Given the description of an element on the screen output the (x, y) to click on. 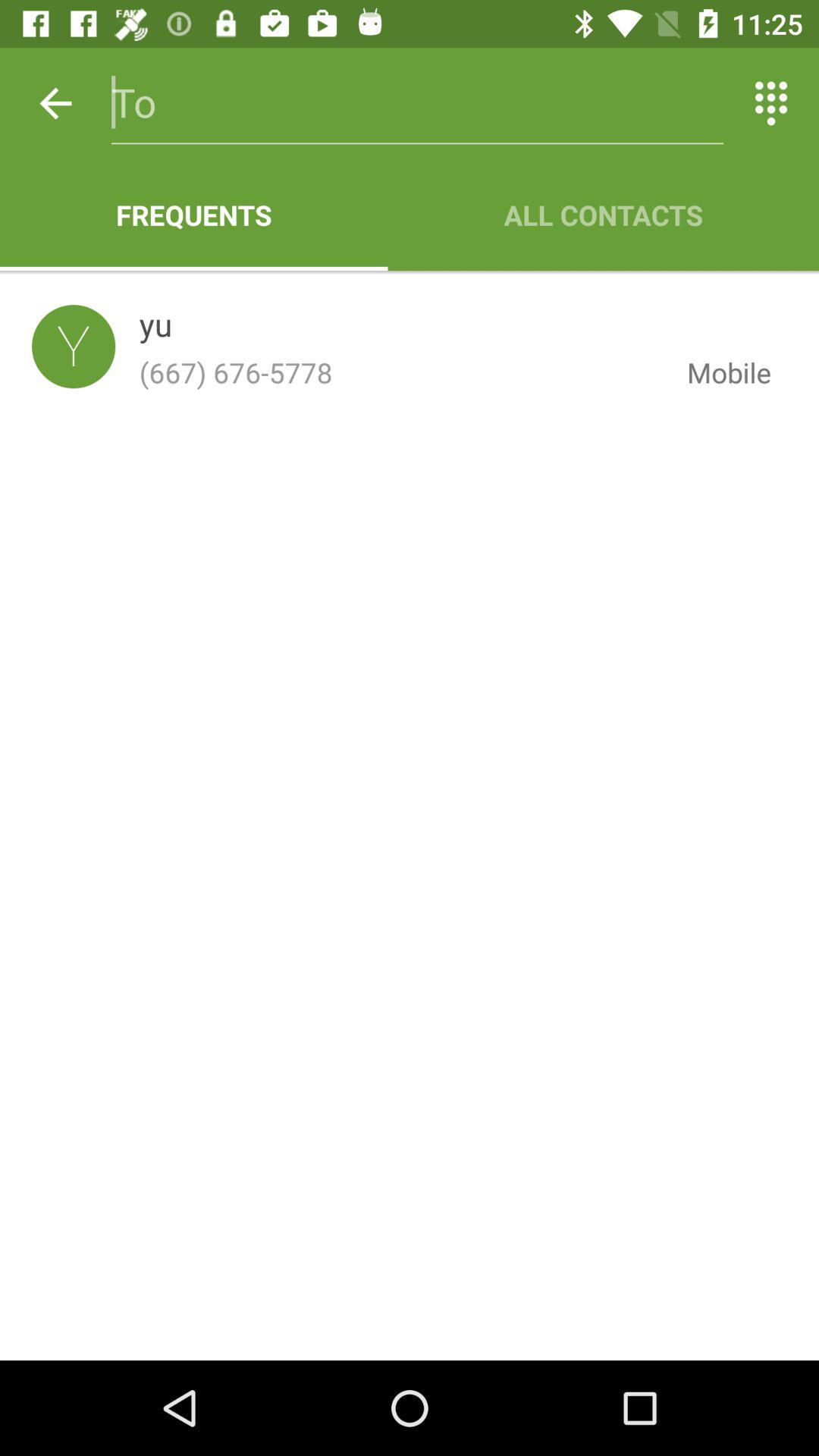
turn off the item next to mobile (155, 327)
